Given the description of an element on the screen output the (x, y) to click on. 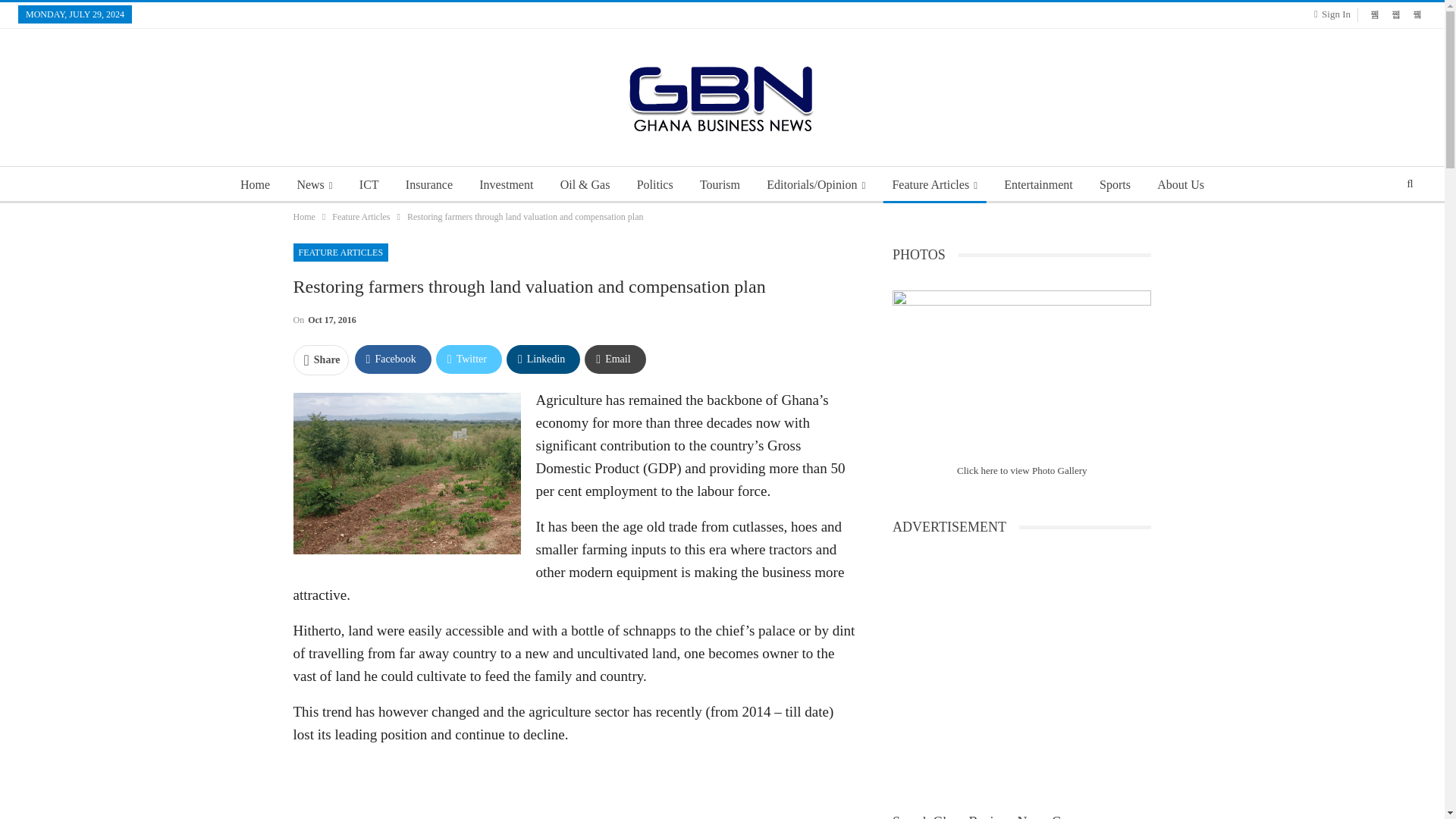
Home (303, 216)
Facebook (392, 358)
Sports (1115, 185)
Twitter (468, 358)
About Us (1180, 185)
Home (255, 185)
Email (615, 358)
Insurance (428, 185)
Investment (505, 185)
Feature Articles (360, 216)
Politics (654, 185)
Entertainment (1037, 185)
Click here to view Photo Gallery (1021, 470)
Sign In (1335, 13)
News (313, 185)
